Given the description of an element on the screen output the (x, y) to click on. 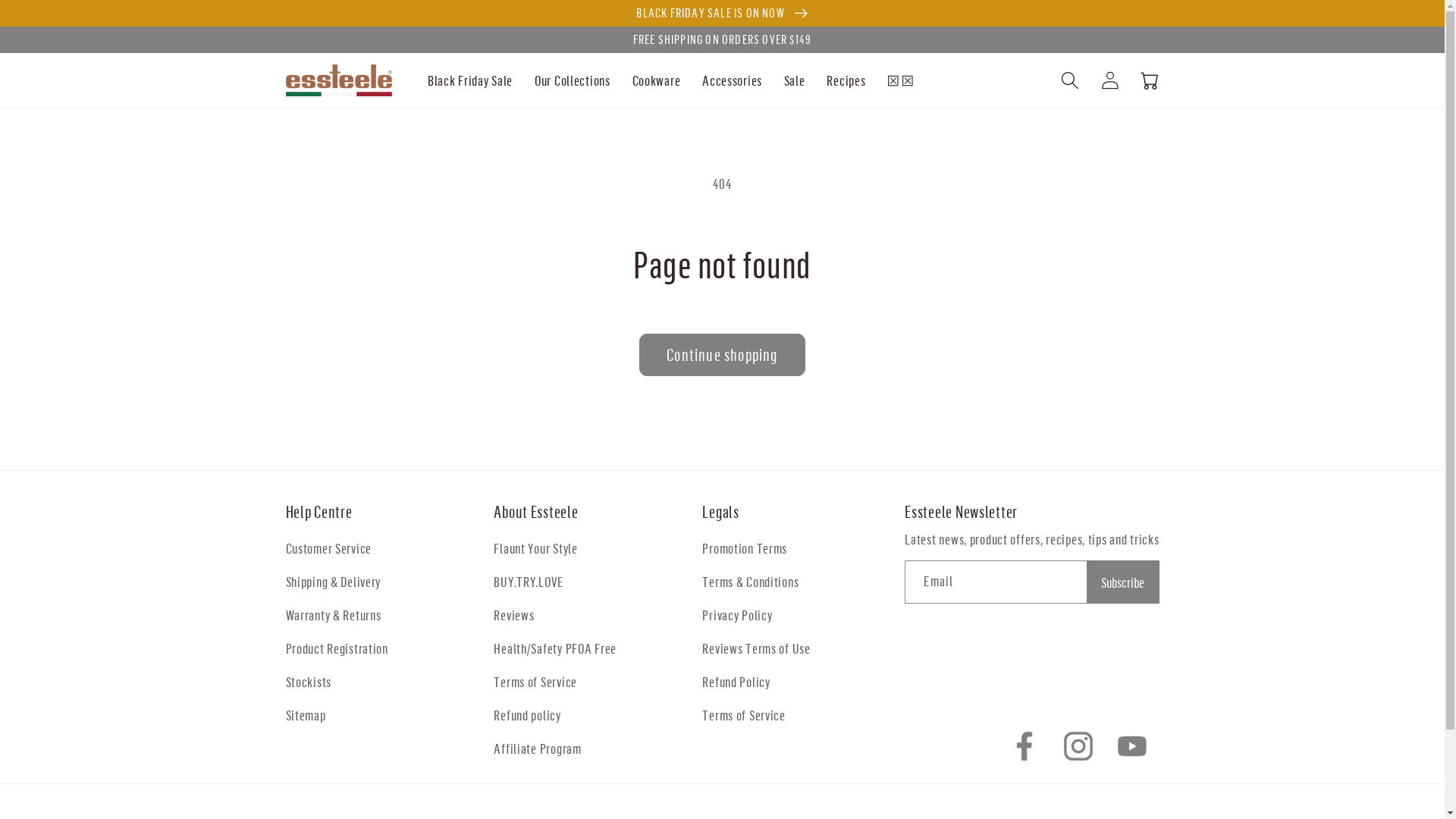
BUY.TRY.LOVE Element type: text (528, 581)
Affiliate Program Element type: text (536, 748)
Stockists Element type: text (307, 681)
Terms & Conditions Element type: text (750, 581)
Subscribe Element type: text (1121, 581)
Terms of Service Element type: text (743, 714)
Cart Element type: text (1149, 80)
Legals Element type: text (803, 511)
Continue shopping Element type: text (721, 354)
Flaunt Your Style Element type: text (535, 547)
Terms of Service Element type: text (535, 681)
Log in Element type: text (1109, 80)
Reviews Terms of Use Element type: text (755, 648)
Reviews Element type: text (513, 614)
Customer Service Element type: text (328, 547)
Sale Element type: text (793, 80)
Warranty & Returns Element type: text (332, 614)
Product Registration Element type: text (336, 648)
Help Centre Element type: text (386, 511)
Shipping & Delivery Element type: text (332, 581)
Promotion Terms Element type: text (744, 547)
Refund Policy Element type: text (735, 681)
Privacy Policy Element type: text (736, 614)
Health/Safety PFOA Free Element type: text (554, 648)
Sitemap Element type: text (305, 714)
Refund policy Element type: text (526, 714)
BLACK FRIDAY SALE IS ON NOW Element type: text (722, 12)
About Essteele Element type: text (594, 511)
Recipes Element type: text (845, 80)
